Given the description of an element on the screen output the (x, y) to click on. 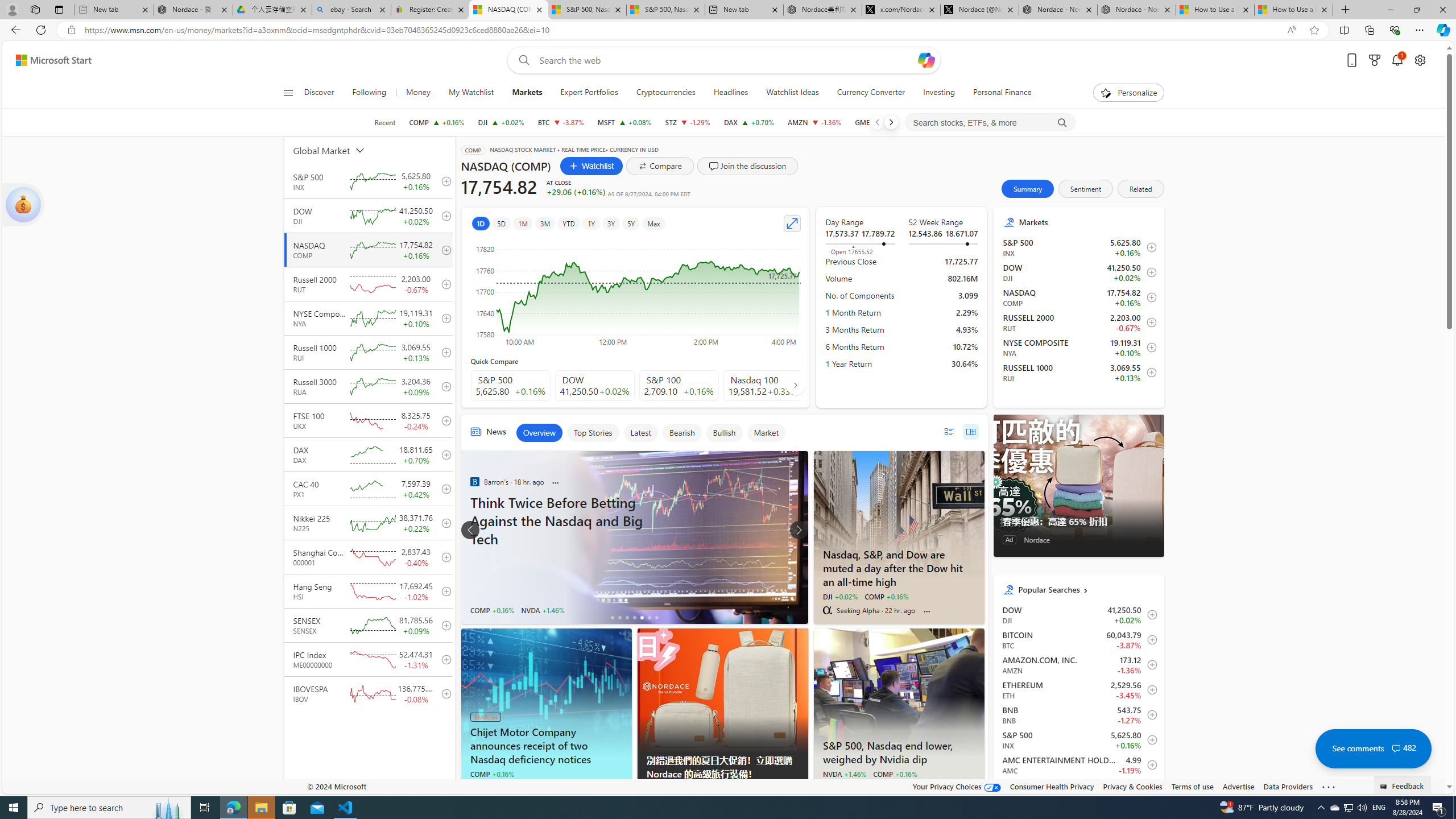
Class: notInWatclistIcon-DS-EntryPoint1-6 lightTheme (1148, 790)
COMP NASDAQ increase 17,754.82 +29.06 +0.16% (436, 122)
Web search (520, 60)
COMP +0.16% (894, 773)
1D (480, 223)
DJI +0.02% (839, 596)
Currency Converter (870, 92)
Watchlist Ideas (791, 92)
Cryptocurrencies (665, 92)
Open navigation menu (287, 92)
Watchlist (591, 166)
